Given the description of an element on the screen output the (x, y) to click on. 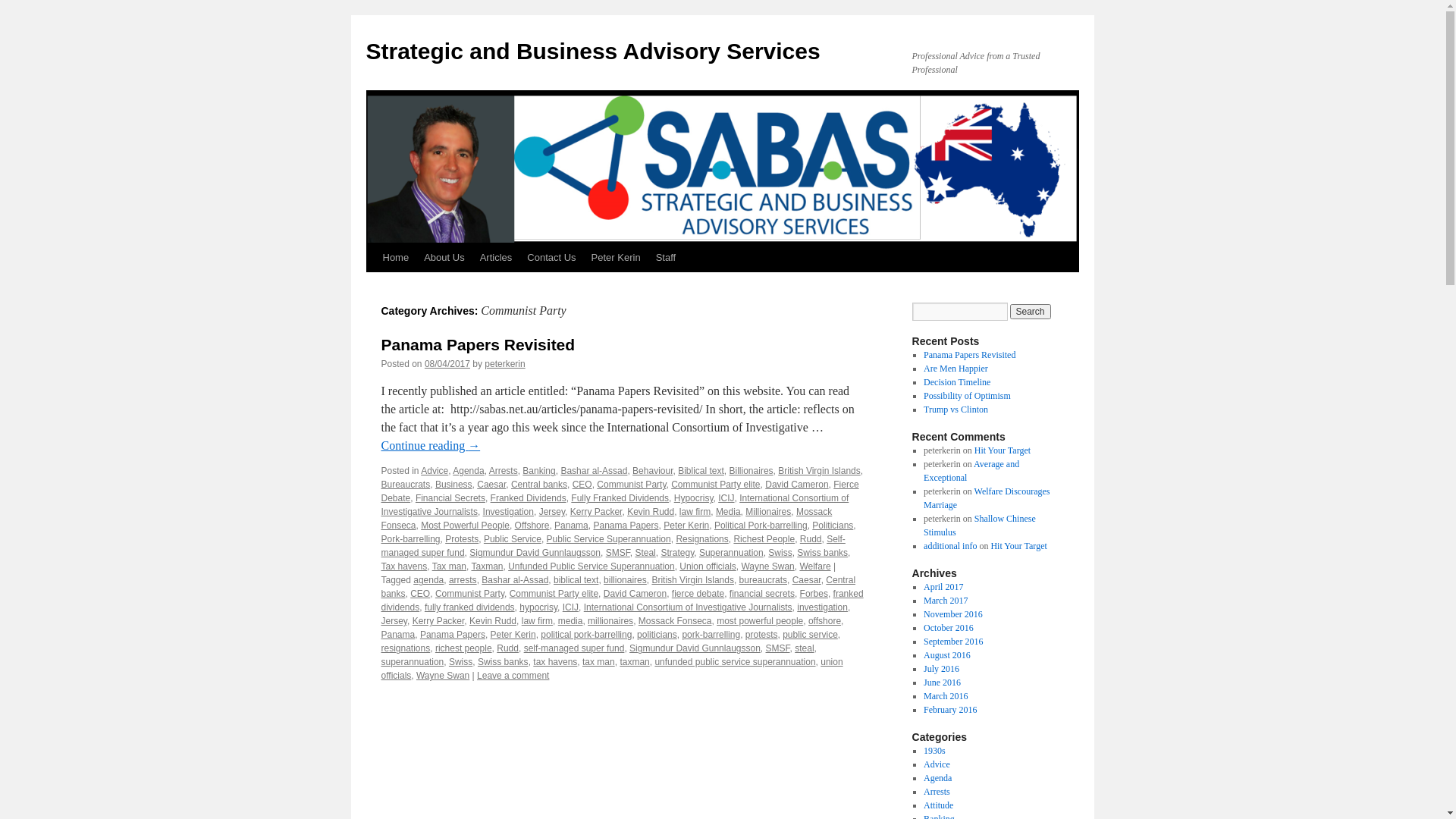
Peter Kerin Element type: text (686, 525)
Panama Element type: text (571, 525)
Search Element type: text (1030, 311)
Rudd Element type: text (811, 538)
financial secrets Element type: text (761, 593)
Peter Kerin Element type: text (615, 257)
millionaires Element type: text (610, 620)
March 2017 Element type: text (945, 600)
Bashar al-Assad Element type: text (514, 579)
biblical text Element type: text (575, 579)
Hit Your Target Element type: text (1002, 450)
08/04/2017 Element type: text (447, 363)
Fierce Debate Element type: text (619, 491)
protests Element type: text (761, 634)
British Virgin Islands Element type: text (819, 470)
public service Element type: text (809, 634)
law firm Element type: text (694, 511)
Resignations Element type: text (701, 538)
Possibility of Optimism Element type: text (966, 395)
About Us Element type: text (443, 257)
Wayne Swan Element type: text (442, 675)
Billionaires Element type: text (751, 470)
Swiss banks Element type: text (822, 552)
Caesar Element type: text (490, 484)
Panama Papers Element type: text (625, 525)
International Consortium of Investigative Journalists Element type: text (687, 607)
ICIJ Element type: text (726, 497)
law firm Element type: text (536, 620)
Communist Party elite Element type: text (715, 484)
March 2016 Element type: text (945, 695)
Franked Dividends Element type: text (528, 497)
Tax havens Element type: text (403, 566)
International Consortium of Investigative Journalists Element type: text (614, 504)
Panama Papers Element type: text (452, 634)
Strategy Element type: text (676, 552)
Advice Element type: text (434, 470)
Sigmundur David Gunnlaugsson Element type: text (534, 552)
Skip to content Element type: text (372, 285)
Kevin Rudd Element type: text (650, 511)
Kerry Packer Element type: text (438, 620)
Communist Party Element type: text (469, 593)
CEO Element type: text (419, 593)
David Cameron Element type: text (796, 484)
Banking Element type: text (538, 470)
Contact Us Element type: text (551, 257)
Shallow Chinese Stimulus Element type: text (979, 525)
Welfare Element type: text (814, 566)
Welfare Discourages Marriage Element type: text (986, 498)
Richest People Element type: text (763, 538)
Kerry Packer Element type: text (596, 511)
Public Service Element type: text (512, 538)
Investigation Element type: text (508, 511)
Staff Element type: text (666, 257)
Attitude Element type: text (938, 805)
investigation Element type: text (822, 607)
Superannuation Element type: text (731, 552)
tax havens Element type: text (555, 661)
Average and Exceptional Element type: text (971, 470)
Panama Element type: text (397, 634)
June 2016 Element type: text (941, 682)
Millionaires Element type: text (767, 511)
SMSF Element type: text (617, 552)
bureaucrats Element type: text (763, 579)
Arrests Element type: text (936, 791)
Swiss banks Element type: text (502, 661)
Taxman Element type: text (486, 566)
Most Powerful People Element type: text (464, 525)
resignations Element type: text (404, 648)
Wayne Swan Element type: text (766, 566)
August 2016 Element type: text (946, 654)
Media Element type: text (727, 511)
Union officials Element type: text (707, 566)
October 2016 Element type: text (948, 627)
Sigmundur David Gunnlaugsson Element type: text (694, 648)
Caesar Element type: text (806, 579)
November 2016 Element type: text (952, 613)
April 2017 Element type: text (943, 586)
political pork-barrelling Element type: text (585, 634)
additional info Element type: text (949, 545)
Advice Element type: text (936, 764)
July 2016 Element type: text (941, 668)
Unfunded Public Service Superannuation Element type: text (591, 566)
Rudd Element type: text (507, 648)
September 2016 Element type: text (952, 641)
February 2016 Element type: text (949, 709)
Self-managed super fund Element type: text (612, 545)
arrests Element type: text (462, 579)
Pork-barrelling Element type: text (409, 538)
peterkerin Element type: text (504, 363)
Central banks Element type: text (617, 586)
Strategic and Business Advisory Services Element type: text (592, 50)
offshore Element type: text (824, 620)
Business Element type: text (453, 484)
Kevin Rudd Element type: text (492, 620)
Peter Kerin Element type: text (513, 634)
Swiss Element type: text (460, 661)
unfunded public service superannuation Element type: text (734, 661)
Mossack Fonseca Element type: text (605, 518)
media Element type: text (570, 620)
Biblical text Element type: text (700, 470)
Home Element type: text (395, 257)
Agenda Element type: text (467, 470)
Leave a comment Element type: text (512, 675)
CEO Element type: text (582, 484)
Financial Secrets Element type: text (450, 497)
Tax man Element type: text (449, 566)
Hit Your Target Element type: text (1018, 545)
SMSF Element type: text (777, 648)
Articles Element type: text (496, 257)
ICIJ Element type: text (570, 607)
richest people Element type: text (463, 648)
hypocrisy Element type: text (538, 607)
Forbes Element type: text (814, 593)
Panama Papers Revisited Element type: text (477, 344)
Are Men Happier Element type: text (955, 368)
Jersey Element type: text (551, 511)
most powerful people Element type: text (759, 620)
Agenda Element type: text (937, 777)
agenda Element type: text (428, 579)
politicians Element type: text (657, 634)
Trump vs Clinton Element type: text (955, 409)
franked dividends Element type: text (621, 600)
Swiss Element type: text (779, 552)
self-managed super fund Element type: text (574, 648)
Politicians Element type: text (832, 525)
Bureaucrats Element type: text (404, 484)
fully franked dividends Element type: text (469, 607)
Arrests Element type: text (503, 470)
Political Pork-barrelling Element type: text (760, 525)
1930s Element type: text (934, 750)
steal Element type: text (803, 648)
superannuation Element type: text (411, 661)
Hypocrisy Element type: text (693, 497)
Fully Franked Dividends Element type: text (619, 497)
Panama Papers Revisited Element type: text (969, 354)
Steal Element type: text (644, 552)
Decision Timeline Element type: text (956, 381)
union officials Element type: text (611, 668)
David Cameron Element type: text (634, 593)
billionaires Element type: text (624, 579)
Mossack Fonseca Element type: text (675, 620)
Protests Element type: text (461, 538)
Public Service Superannuation Element type: text (608, 538)
Bashar al-Assad Element type: text (593, 470)
Jersey Element type: text (393, 620)
Central banks Element type: text (539, 484)
Communist Party elite Element type: text (553, 593)
Behaviour Element type: text (652, 470)
tax man Element type: text (598, 661)
taxman Element type: text (634, 661)
British Virgin Islands Element type: text (692, 579)
Offshore Element type: text (531, 525)
Communist Party Element type: text (630, 484)
pork-barrelling Element type: text (710, 634)
fierce debate Element type: text (697, 593)
